Given the description of an element on the screen output the (x, y) to click on. 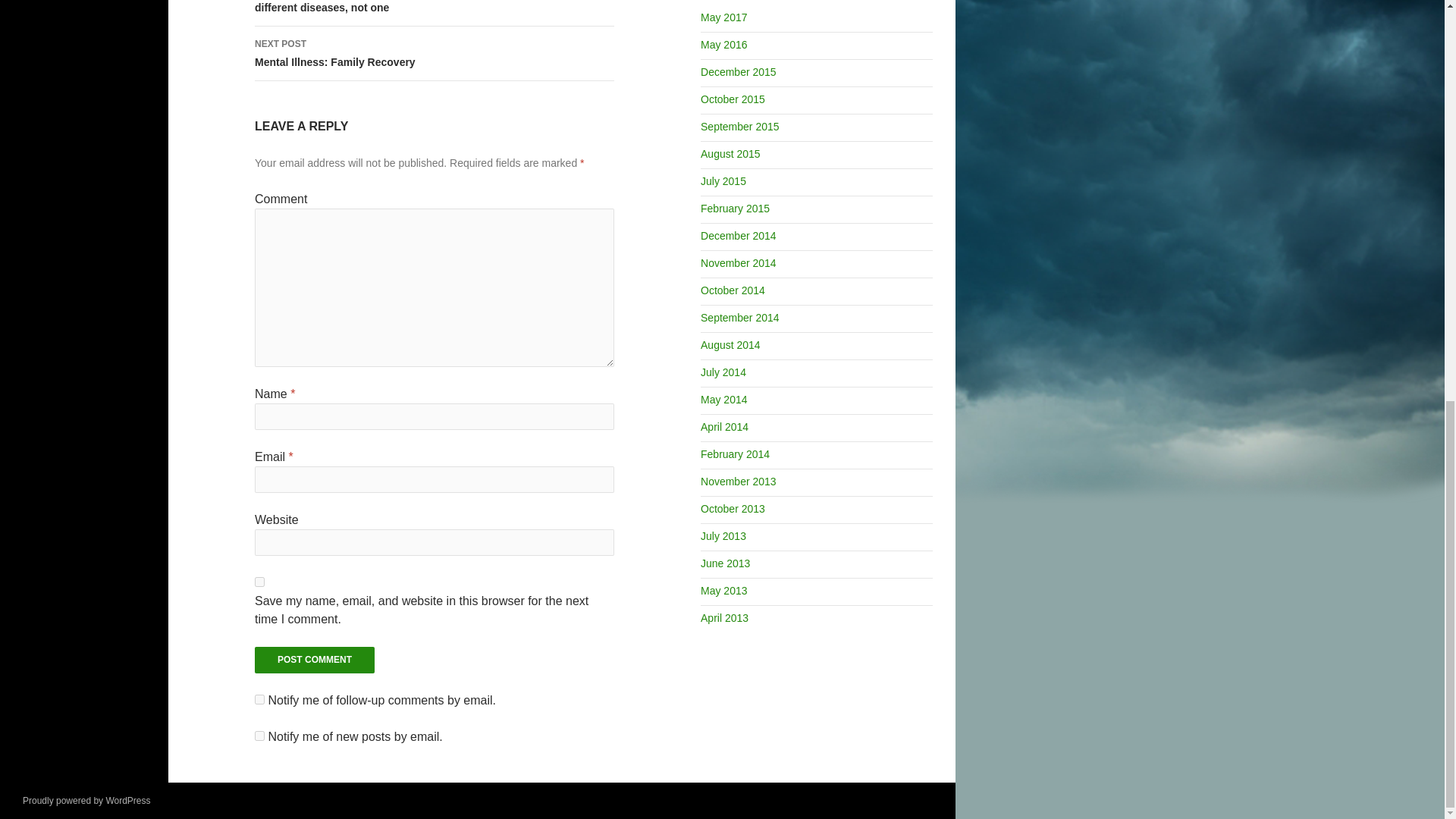
September 2015 (739, 126)
May 2016 (723, 44)
October 2015 (434, 53)
Post Comment (732, 99)
February 2015 (314, 660)
December 2015 (735, 208)
subscribe (738, 71)
July 2015 (259, 736)
